Given the description of an element on the screen output the (x, y) to click on. 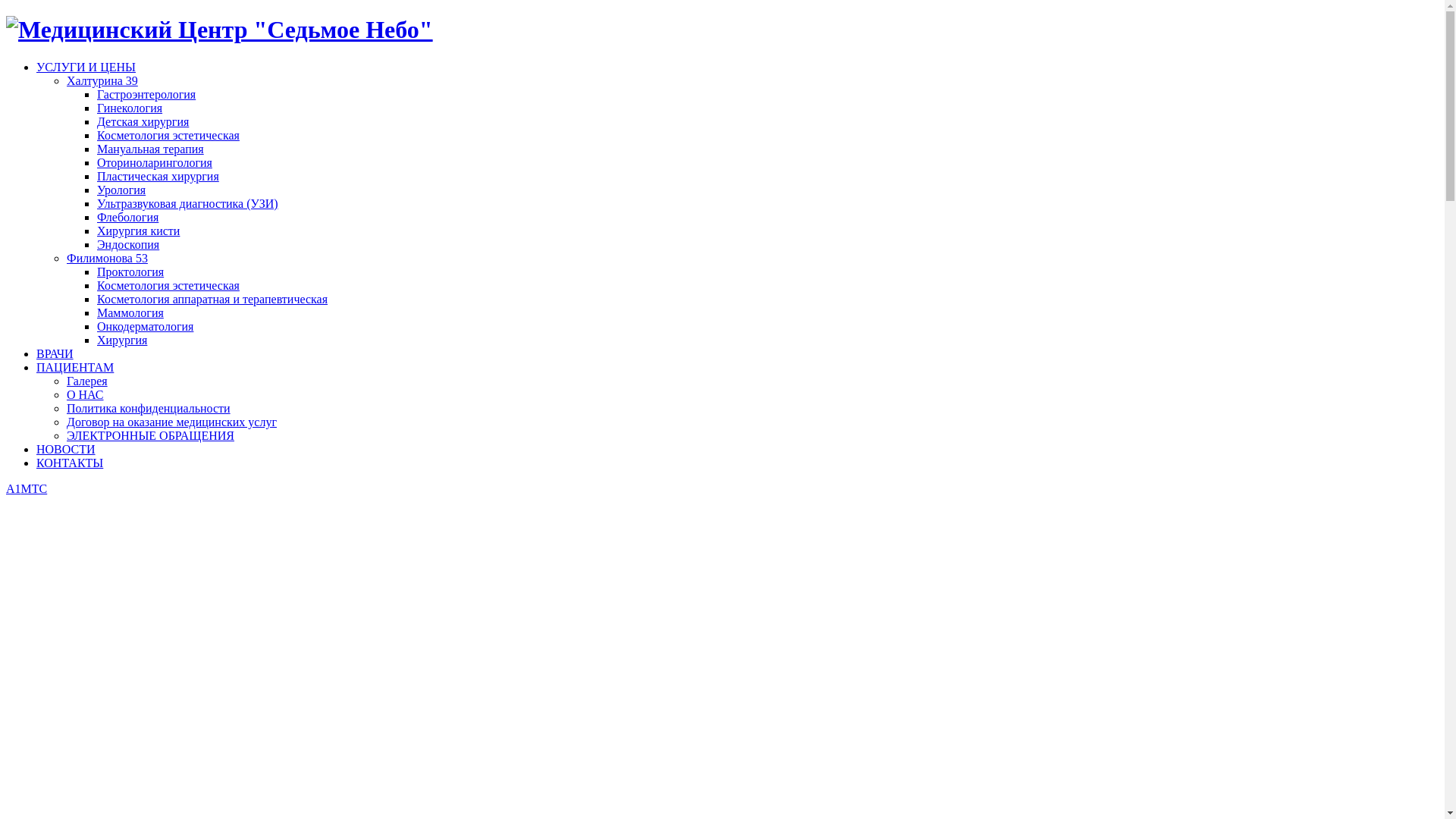
A1 Element type: text (13, 488)
